Given the description of an element on the screen output the (x, y) to click on. 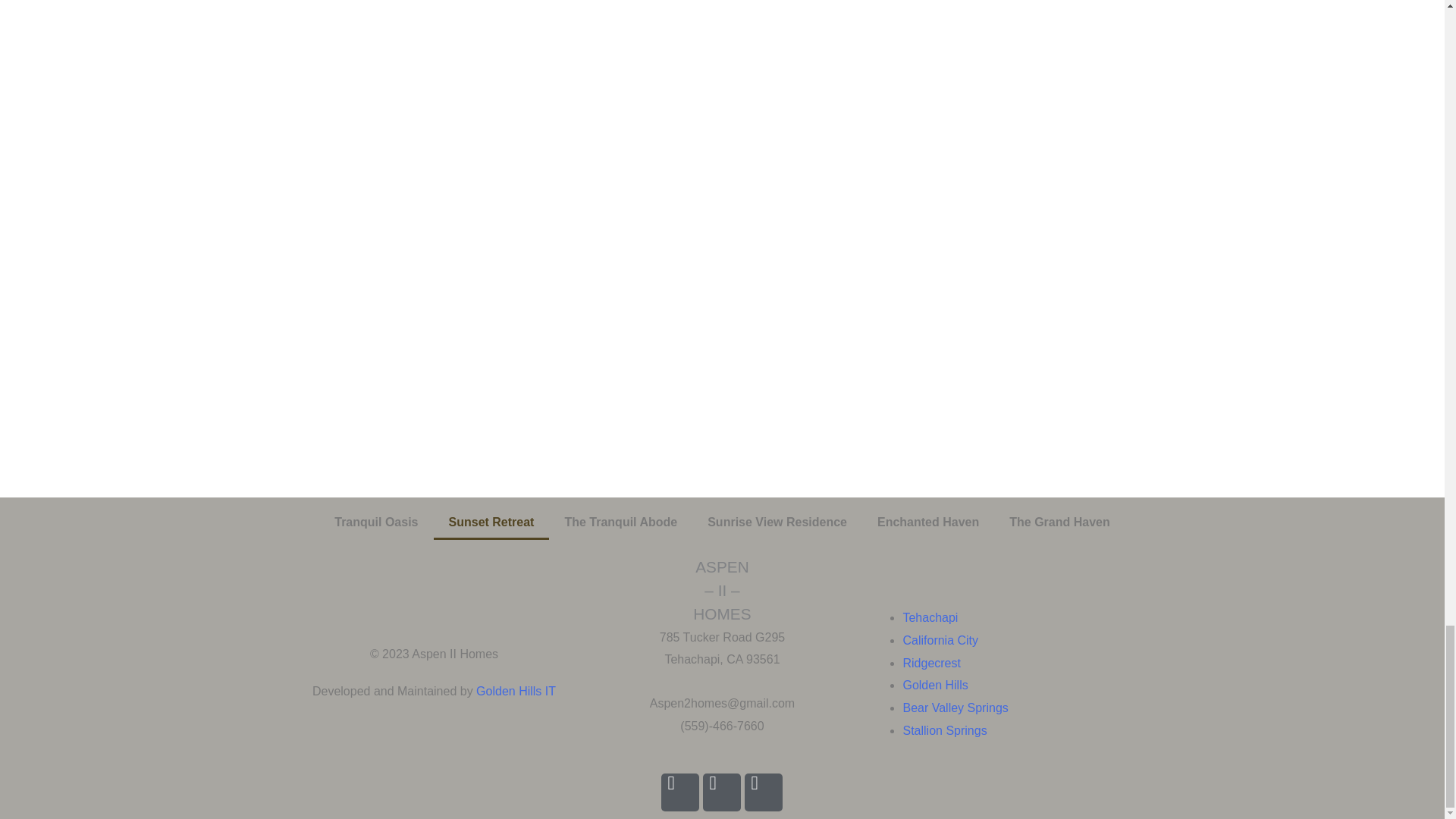
Tranquil Oasis (375, 522)
California City (940, 640)
Tehachapi (930, 617)
Sunset Retreat (491, 522)
Golden Hills IT (516, 690)
Enchanted Haven (927, 522)
Ridgecrest (930, 662)
Youtube (763, 792)
Sunrise View Residence (777, 522)
The Tranquil Abode (620, 522)
The Grand Haven (1059, 522)
Facebook (679, 792)
Twitter (722, 792)
